Given the description of an element on the screen output the (x, y) to click on. 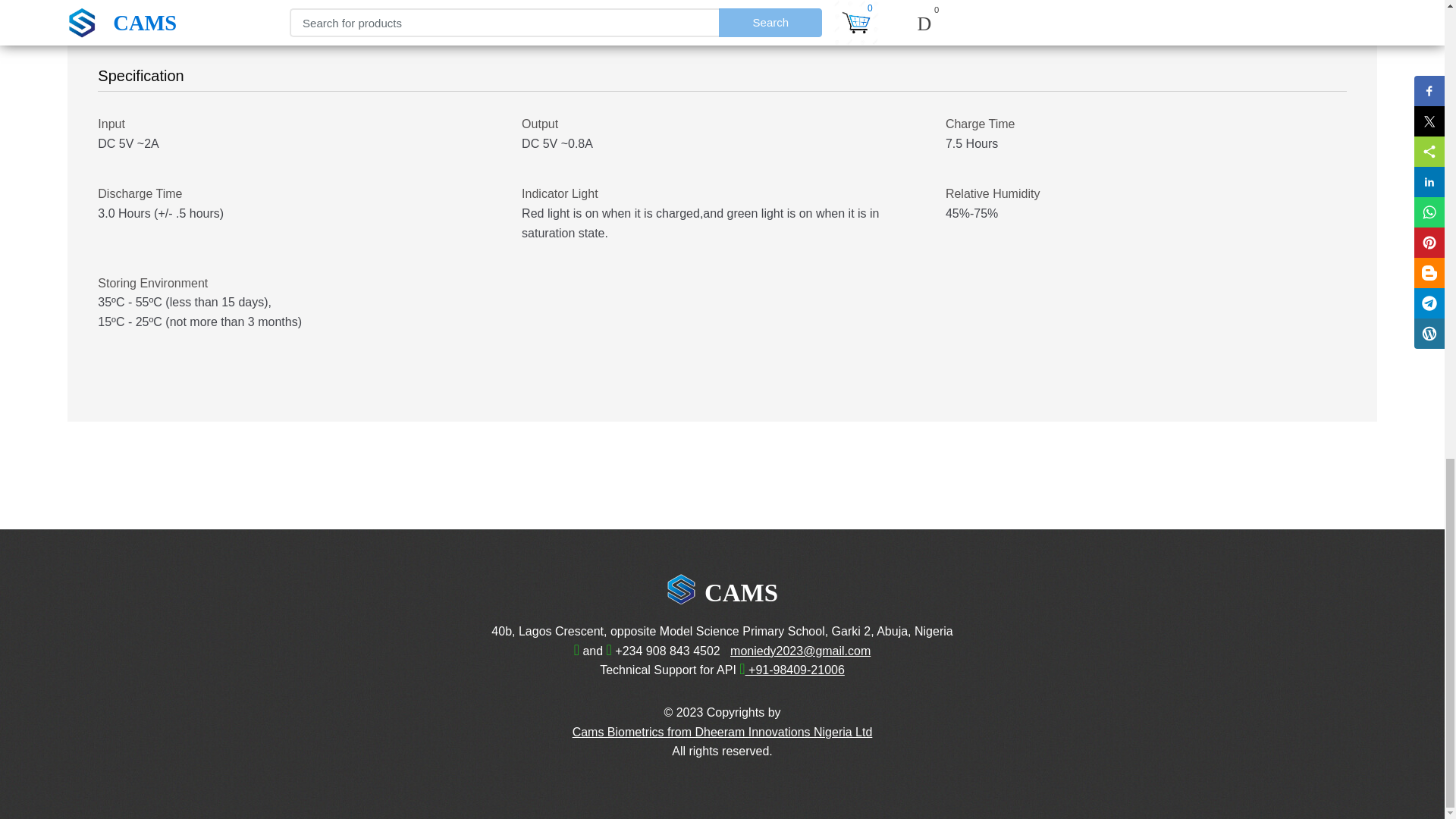
Cams Biometrics from Dheeram Innovations Nigeria Ltd (722, 731)
